Given the description of an element on the screen output the (x, y) to click on. 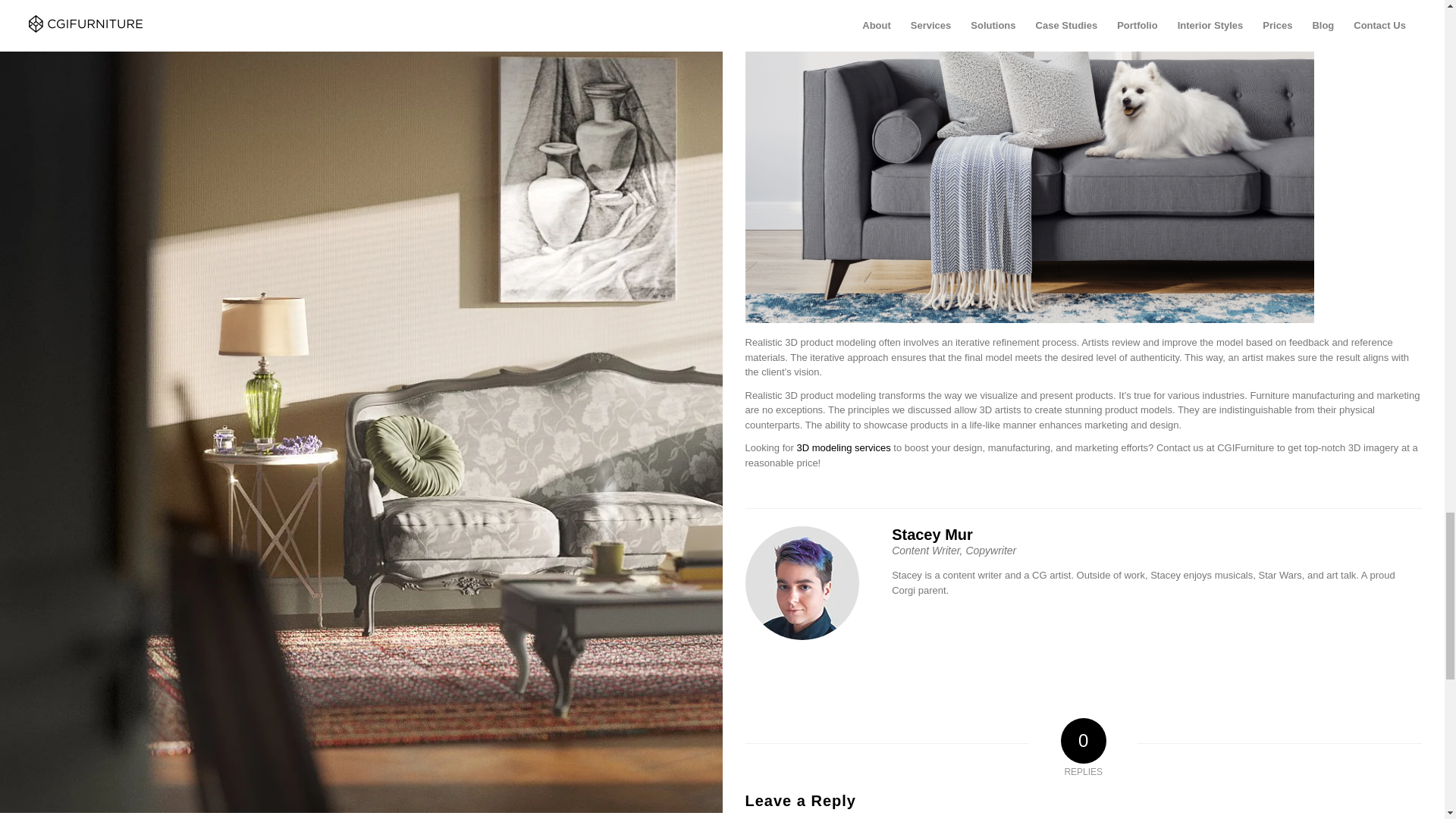
3D modeling services (842, 447)
